Given the description of an element on the screen output the (x, y) to click on. 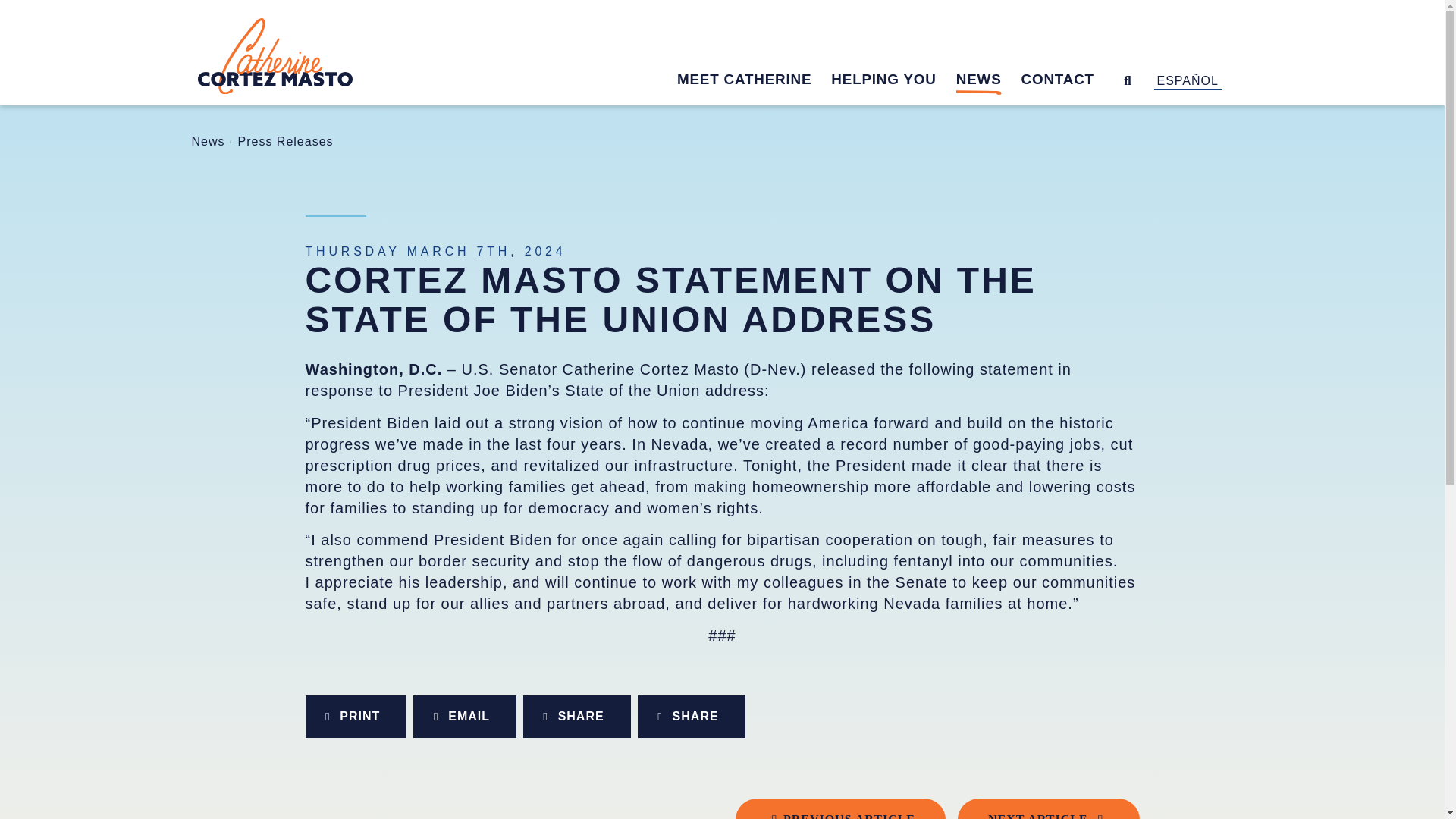
Press Releases (285, 141)
HELPING YOU (893, 81)
News (207, 141)
MEET CATHERINE (754, 81)
